Given the description of an element on the screen output the (x, y) to click on. 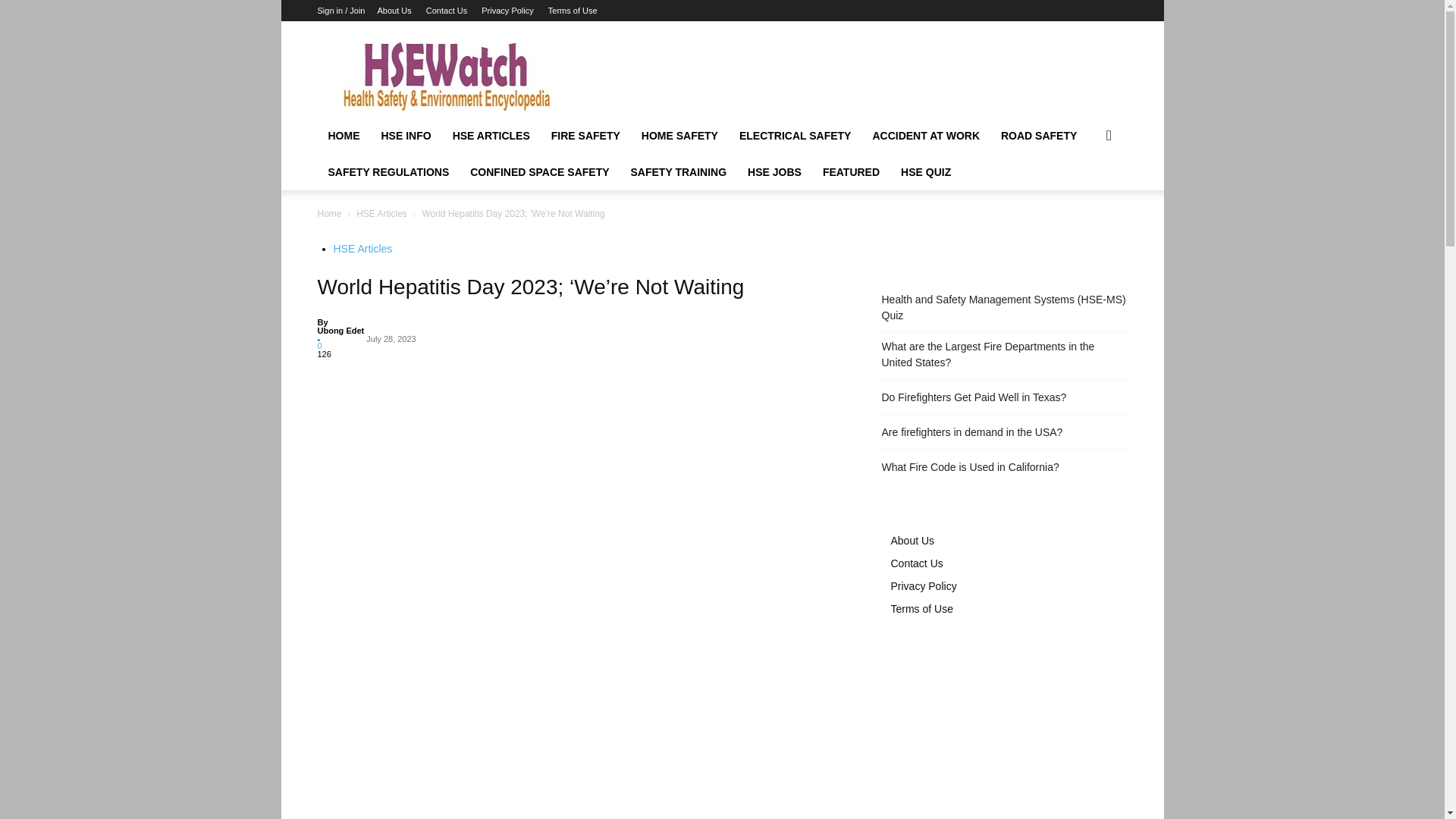
HSE ARTICLES (491, 135)
FIRE SAFETY (585, 135)
HOME SAFETY (679, 135)
HOME (343, 135)
Contact Us (446, 10)
HSE INFO (405, 135)
About Us (393, 10)
Terms of Use (572, 10)
View all posts in HSE Articles (381, 213)
Privacy Policy (506, 10)
